Given the description of an element on the screen output the (x, y) to click on. 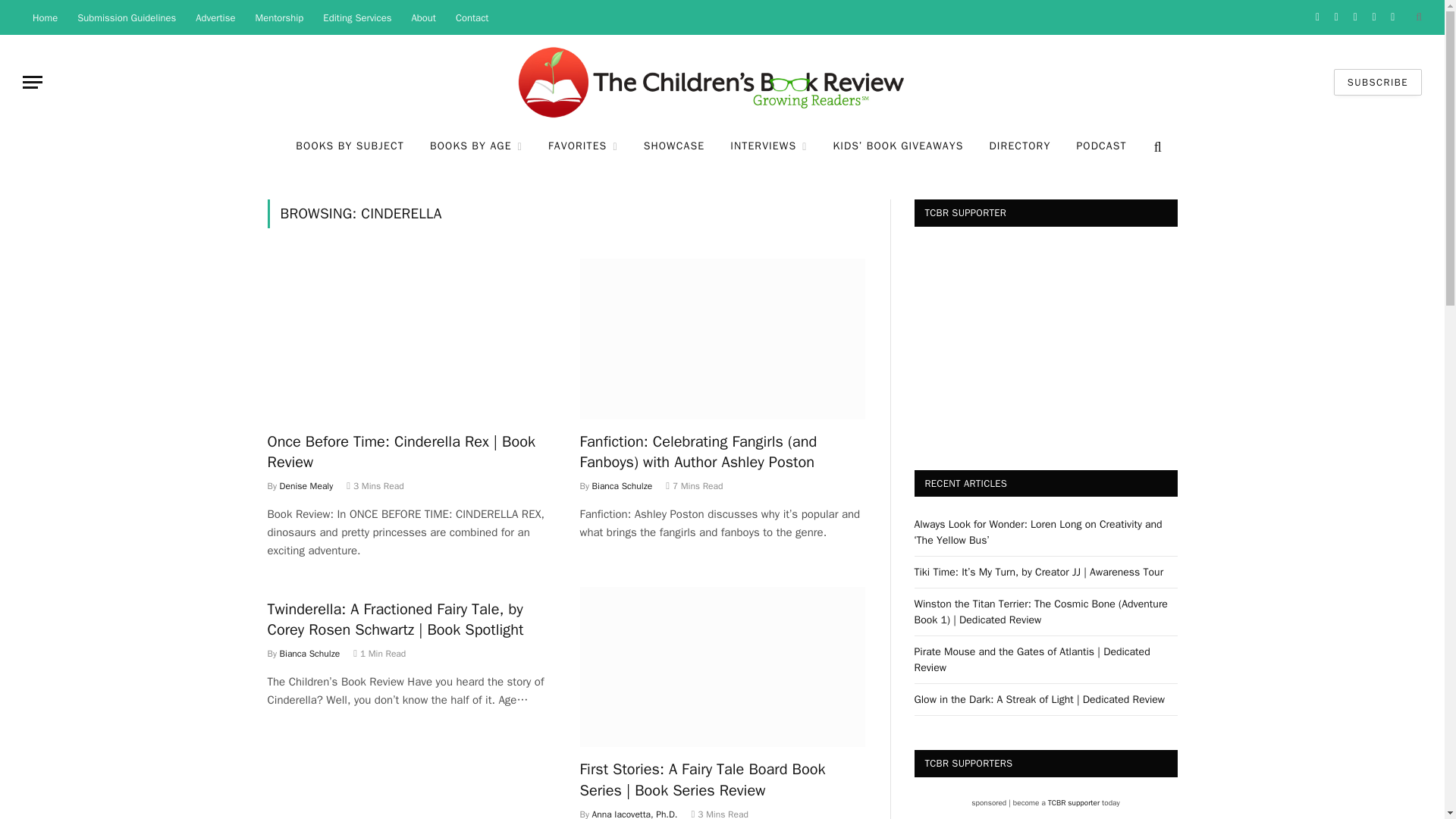
SUBSCRIBE (1377, 81)
About (423, 17)
Posts by Denise Mealy (306, 485)
Advertise (215, 17)
Posts by Bianca Schulze (309, 653)
Posts by Anna Iacovetta, Ph.D. (635, 813)
Contact (472, 17)
Posts by Bianca Schulze (622, 485)
FAVORITES (582, 146)
Home (44, 17)
